Given the description of an element on the screen output the (x, y) to click on. 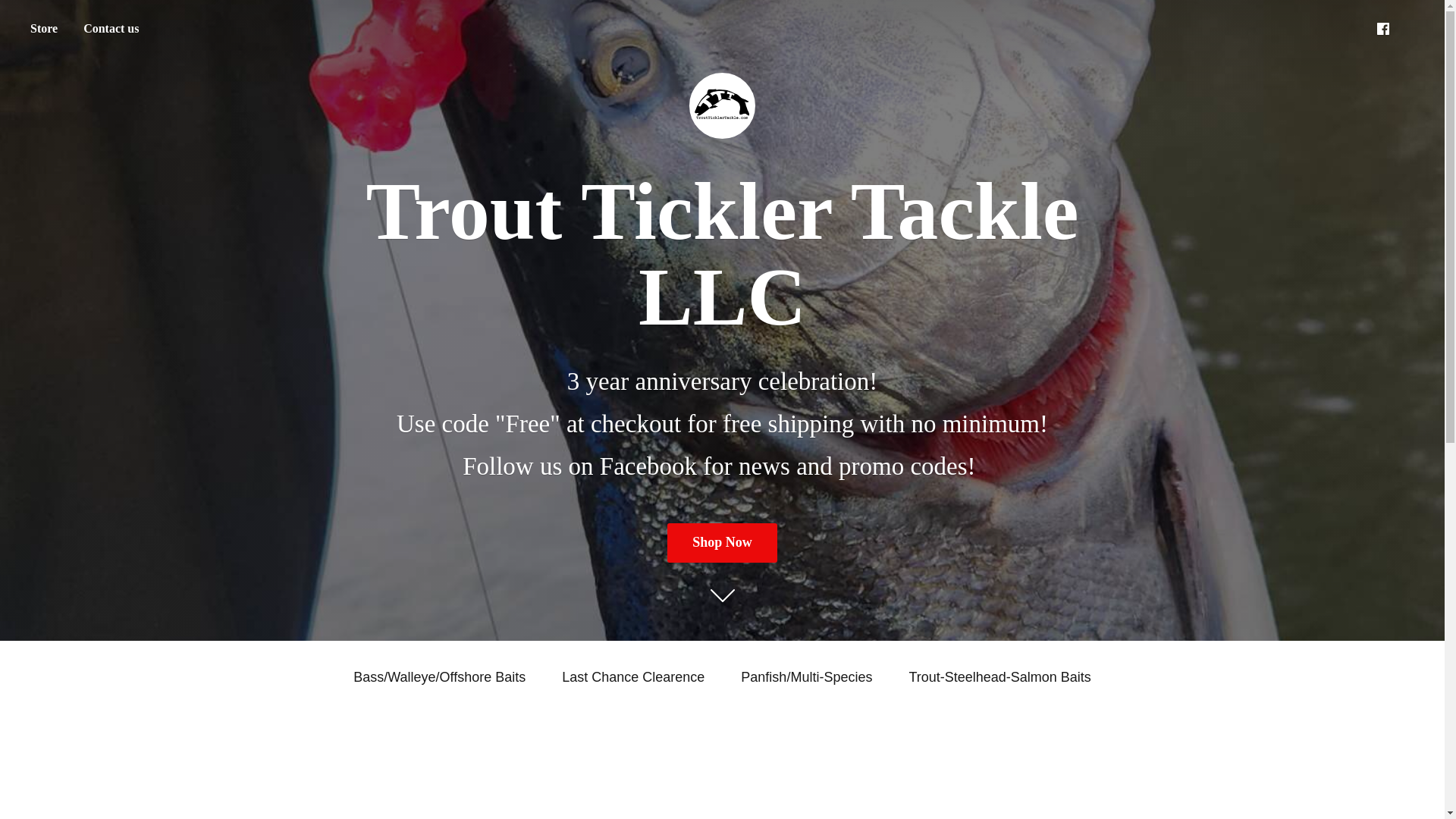
Last Chance Clearence (633, 677)
Trout-Steelhead-Salmon Baits (999, 677)
Shop Now (721, 542)
Store (43, 29)
Contact us (110, 29)
